Given the description of an element on the screen output the (x, y) to click on. 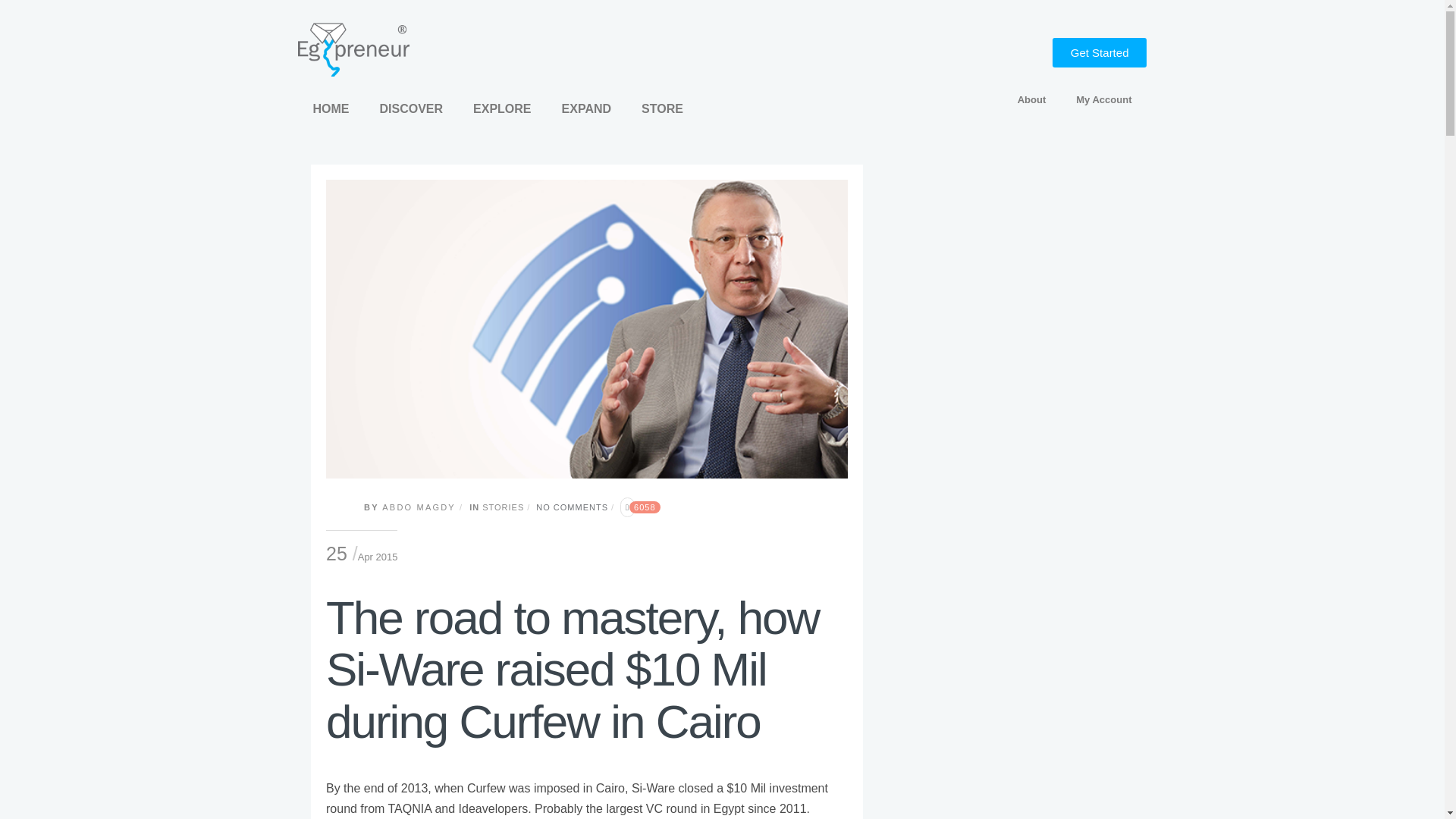
EXPLORE (502, 108)
DISCOVER (411, 108)
EXPAND (587, 108)
HOME (330, 108)
